Given the description of an element on the screen output the (x, y) to click on. 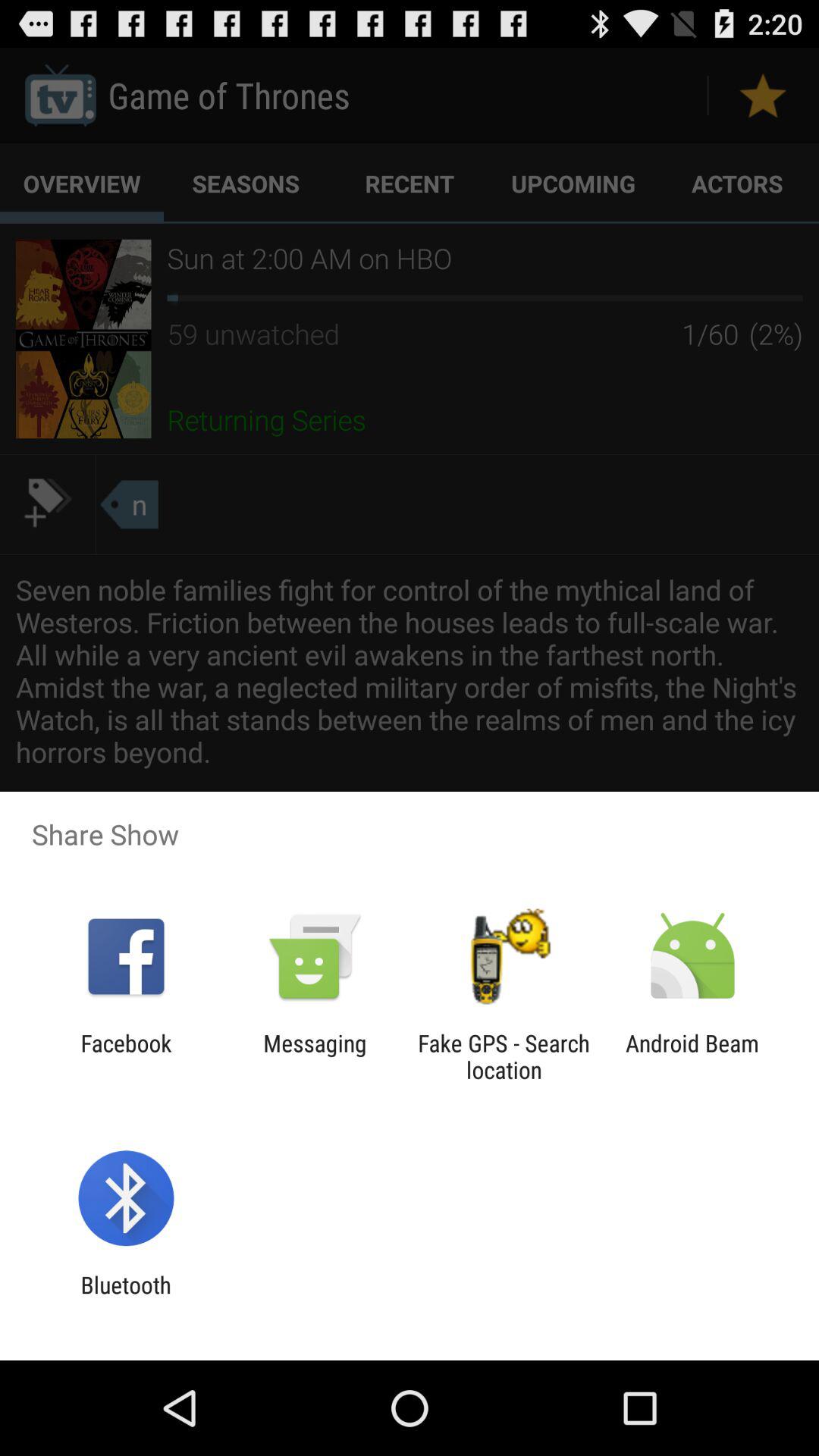
turn on the item next to the fake gps search app (314, 1056)
